Given the description of an element on the screen output the (x, y) to click on. 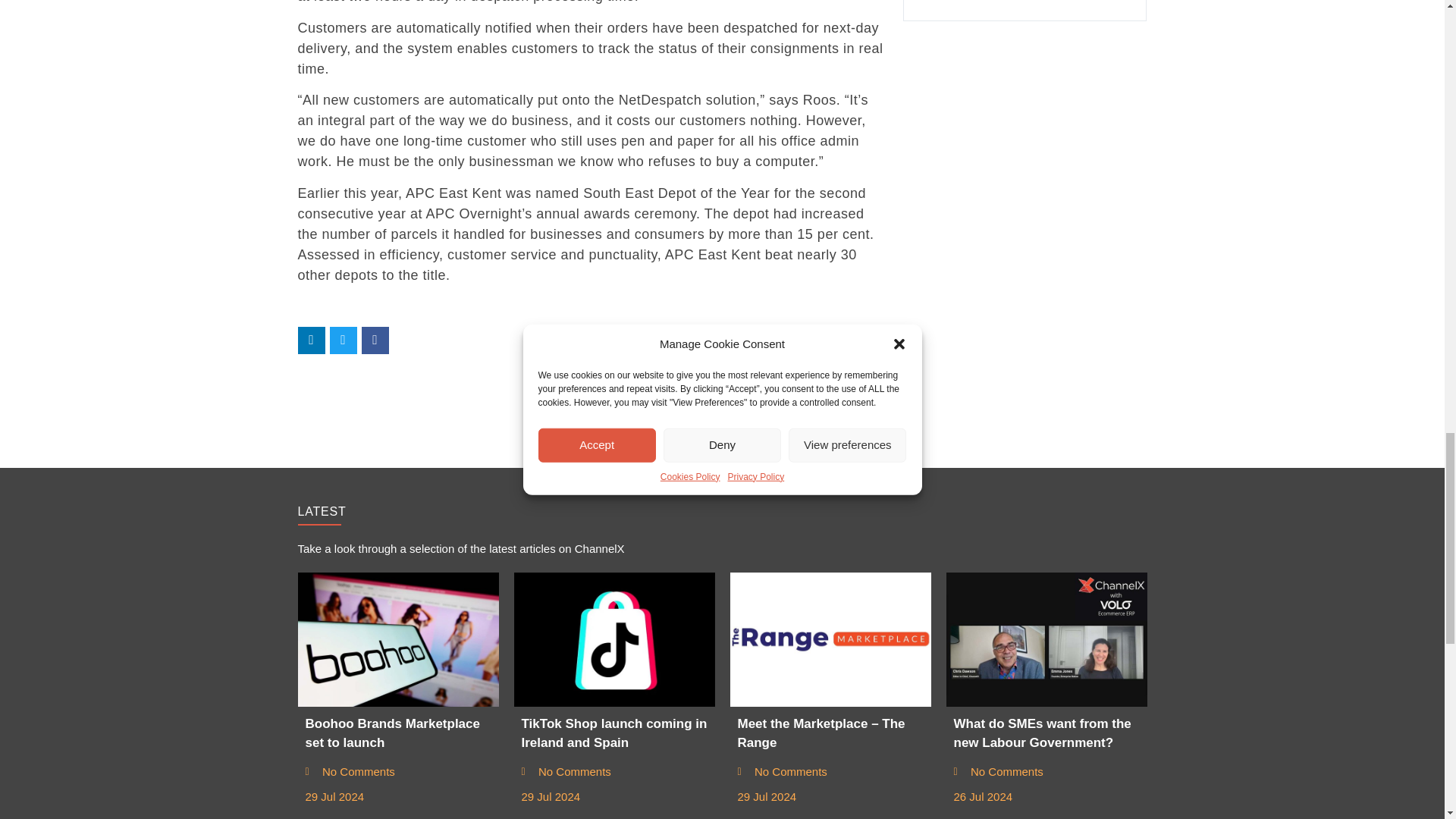
Learn how to get started with TikTok Shop (613, 639)
Boohoo Brands Marketplace set to launch (397, 639)
